Given the description of an element on the screen output the (x, y) to click on. 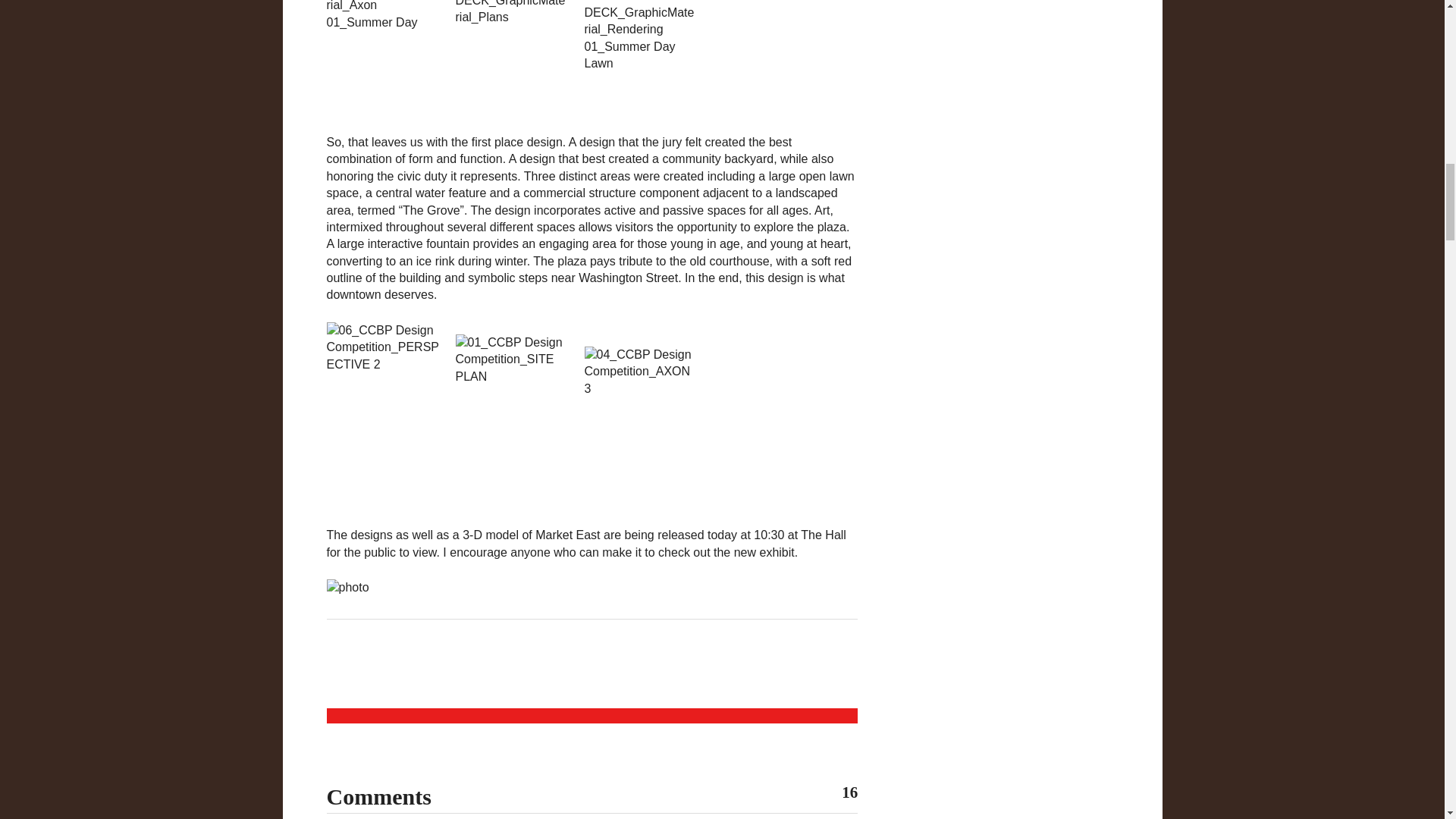
Share in Facebook (469, 669)
Share in OK (545, 669)
Share in VK (507, 669)
Share in Twitter (622, 669)
